Given the description of an element on the screen output the (x, y) to click on. 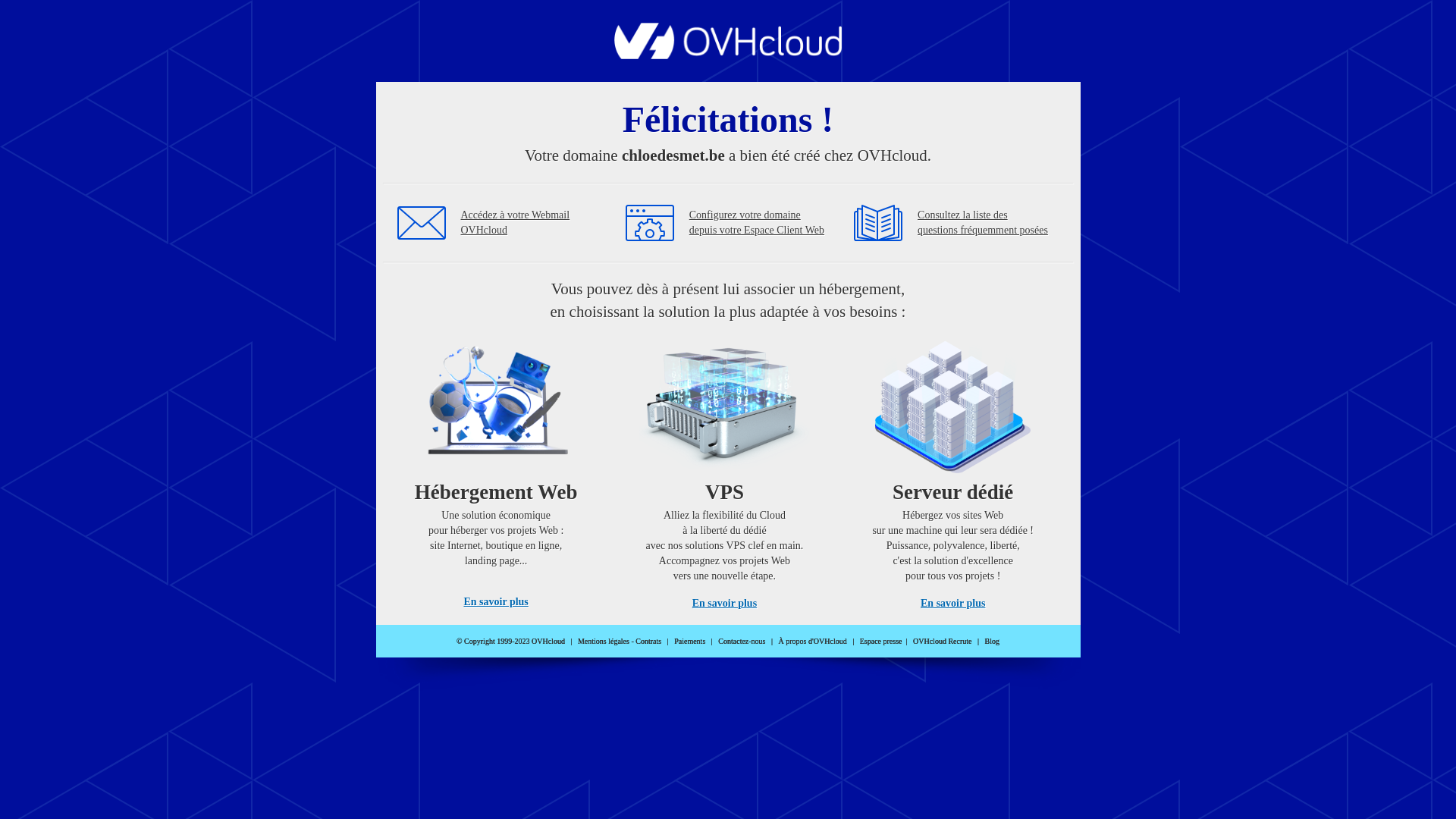
Paiements Element type: text (689, 641)
OVHcloud Element type: hover (727, 54)
En savoir plus Element type: text (724, 602)
En savoir plus Element type: text (952, 602)
En savoir plus Element type: text (495, 601)
OVHcloud Recrute Element type: text (942, 641)
VPS Element type: hover (724, 469)
Espace presse Element type: text (880, 641)
Contactez-nous Element type: text (741, 641)
Configurez votre domaine
depuis votre Espace Client Web Element type: text (756, 222)
Blog Element type: text (992, 641)
